Given the description of an element on the screen output the (x, y) to click on. 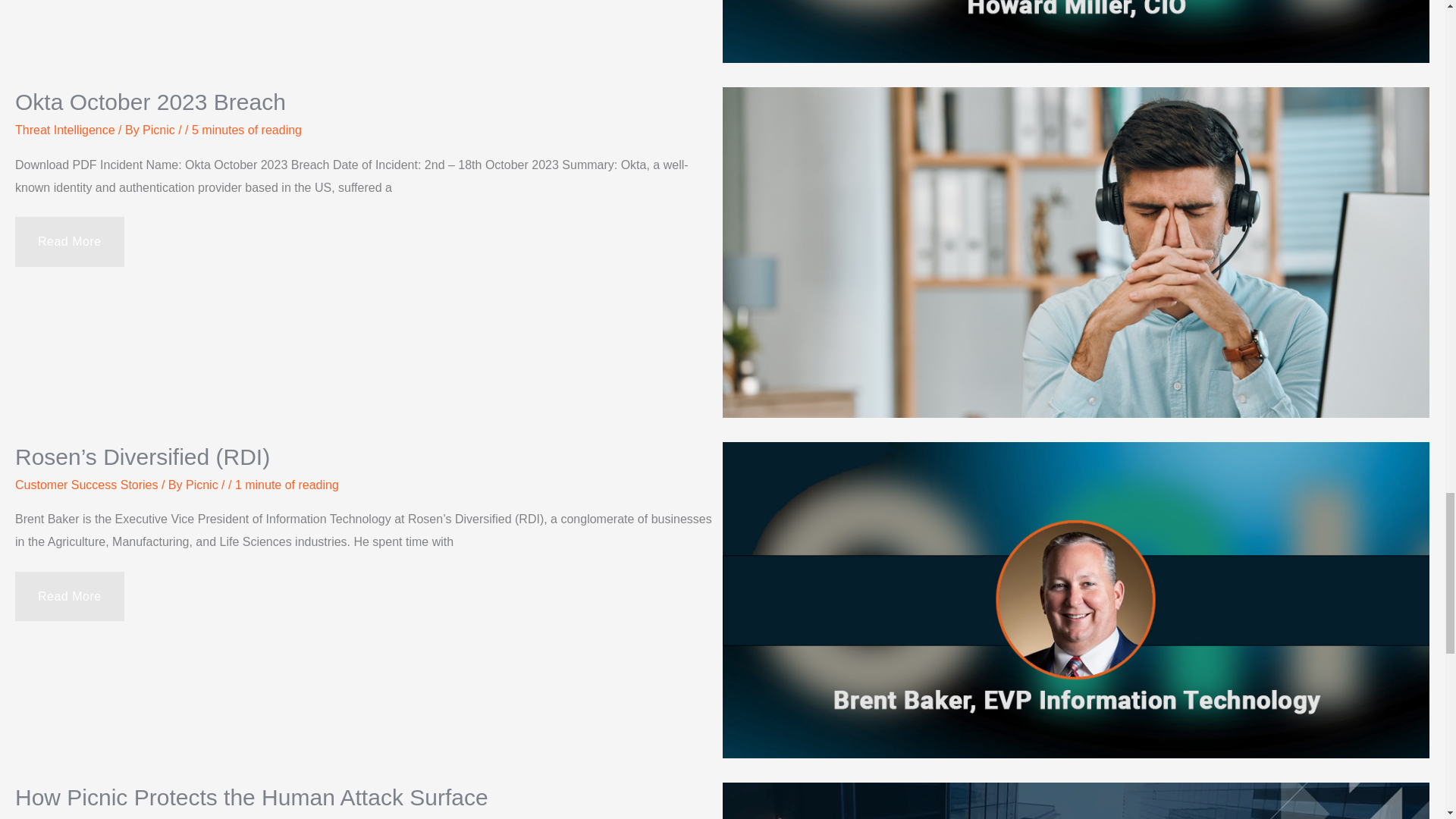
View all posts by Picnic (159, 129)
View all posts by Picnic (203, 484)
